Given the description of an element on the screen output the (x, y) to click on. 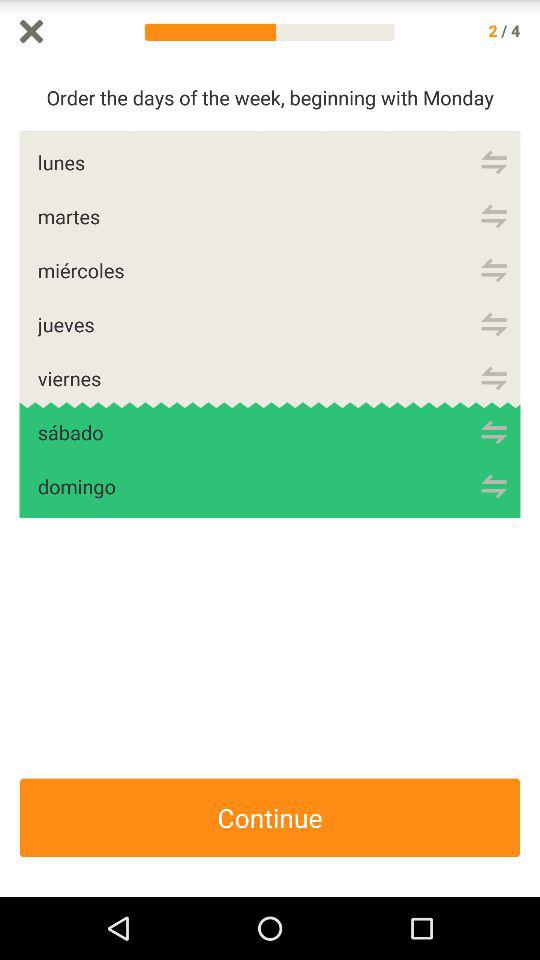
select domingo option (494, 486)
